Given the description of an element on the screen output the (x, y) to click on. 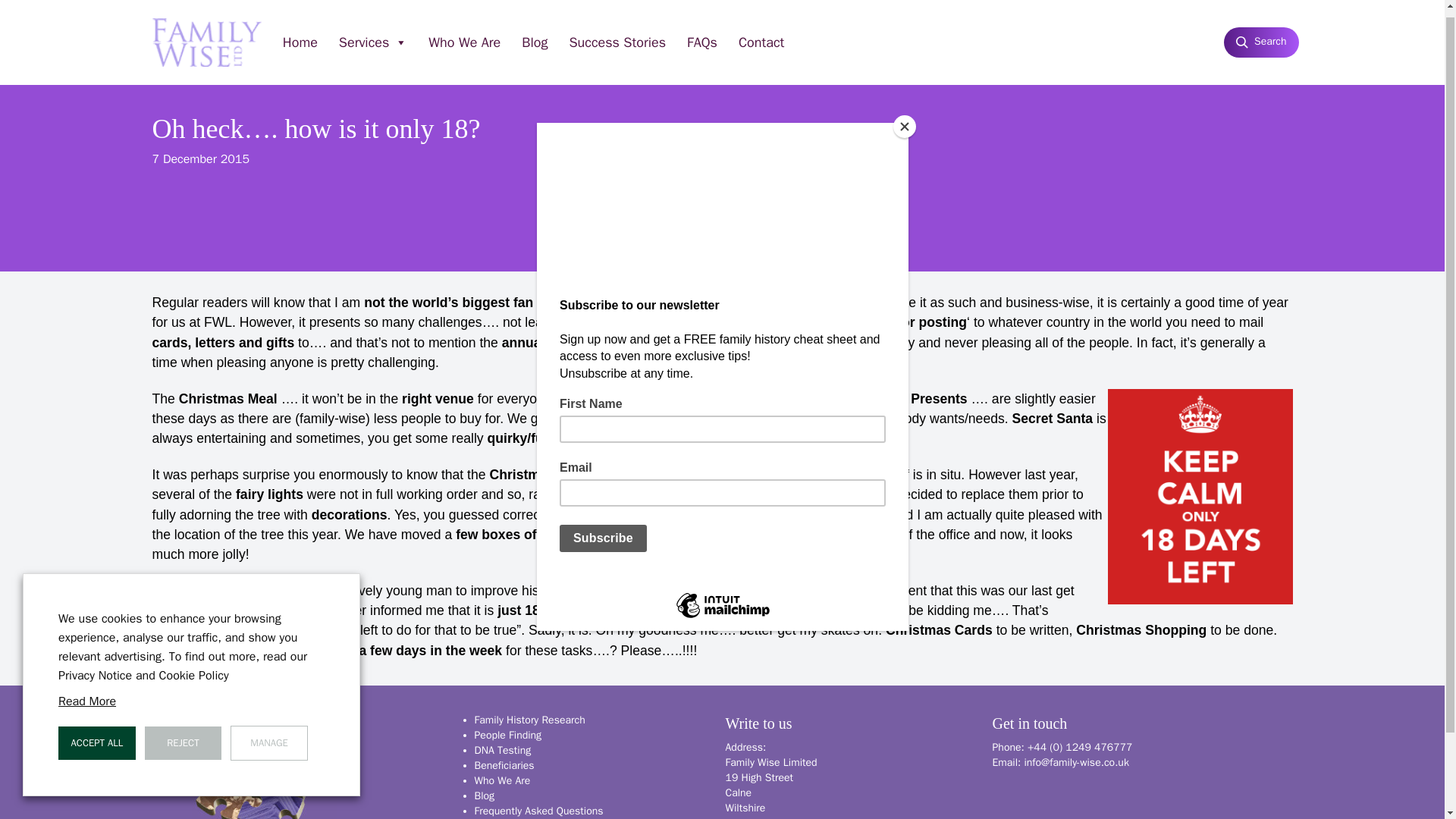
DNA Testing (502, 749)
Home (300, 34)
People Finding (507, 735)
Services (374, 34)
Contact (761, 34)
ACCEPT ALL (96, 735)
Blog (484, 795)
Who We Are (464, 34)
Who We Are (502, 780)
Family History Research (529, 719)
REJECT (183, 735)
MANAGE (268, 735)
Beneficiaries (504, 765)
Frequently Asked Questions (539, 810)
Success Stories (617, 34)
